Given the description of an element on the screen output the (x, y) to click on. 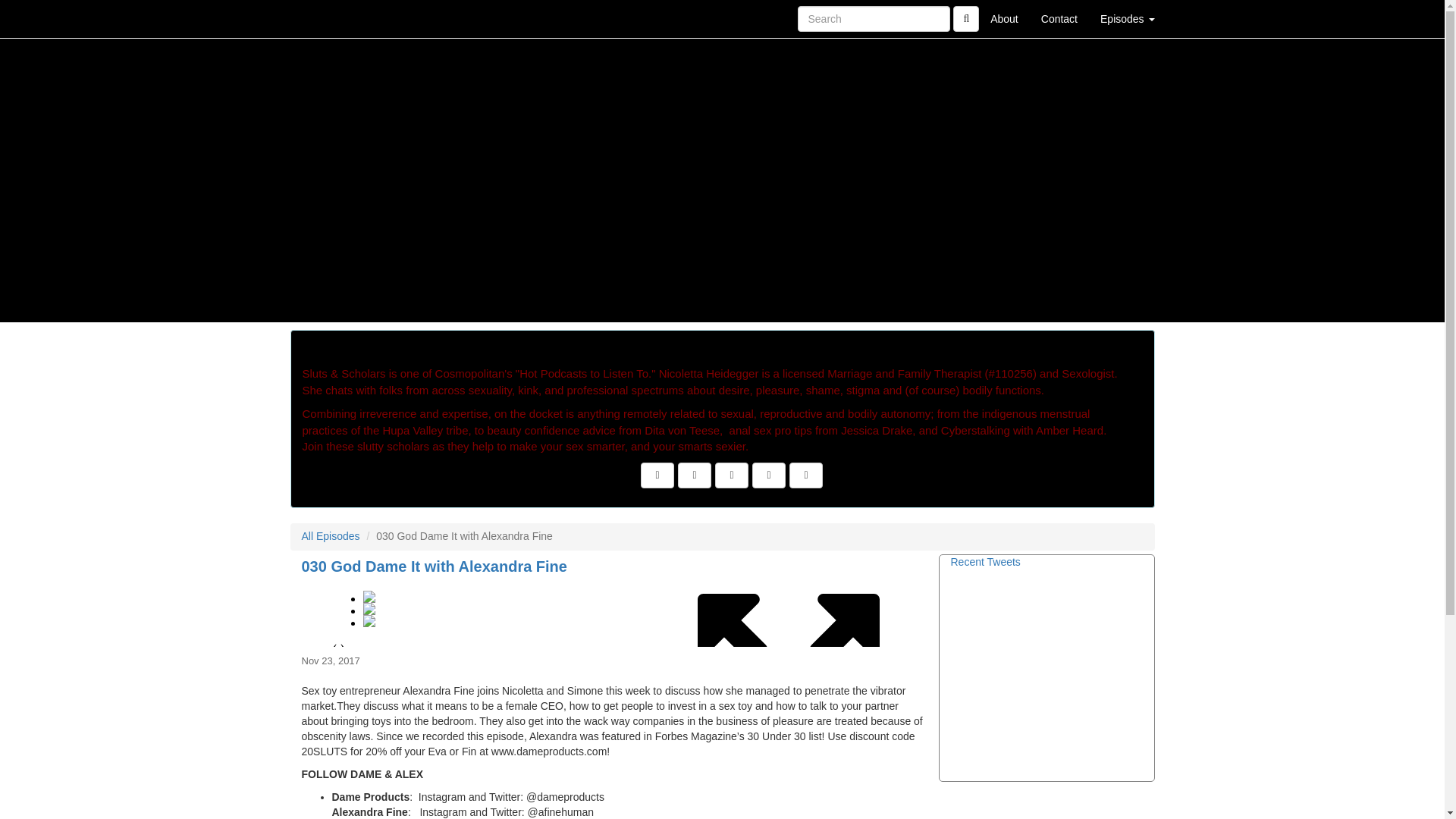
030 God Dame It with Alexandra Fine (614, 612)
Home Page (320, 18)
Episodes (1127, 18)
Contact (1059, 18)
About (1003, 18)
